Given the description of an element on the screen output the (x, y) to click on. 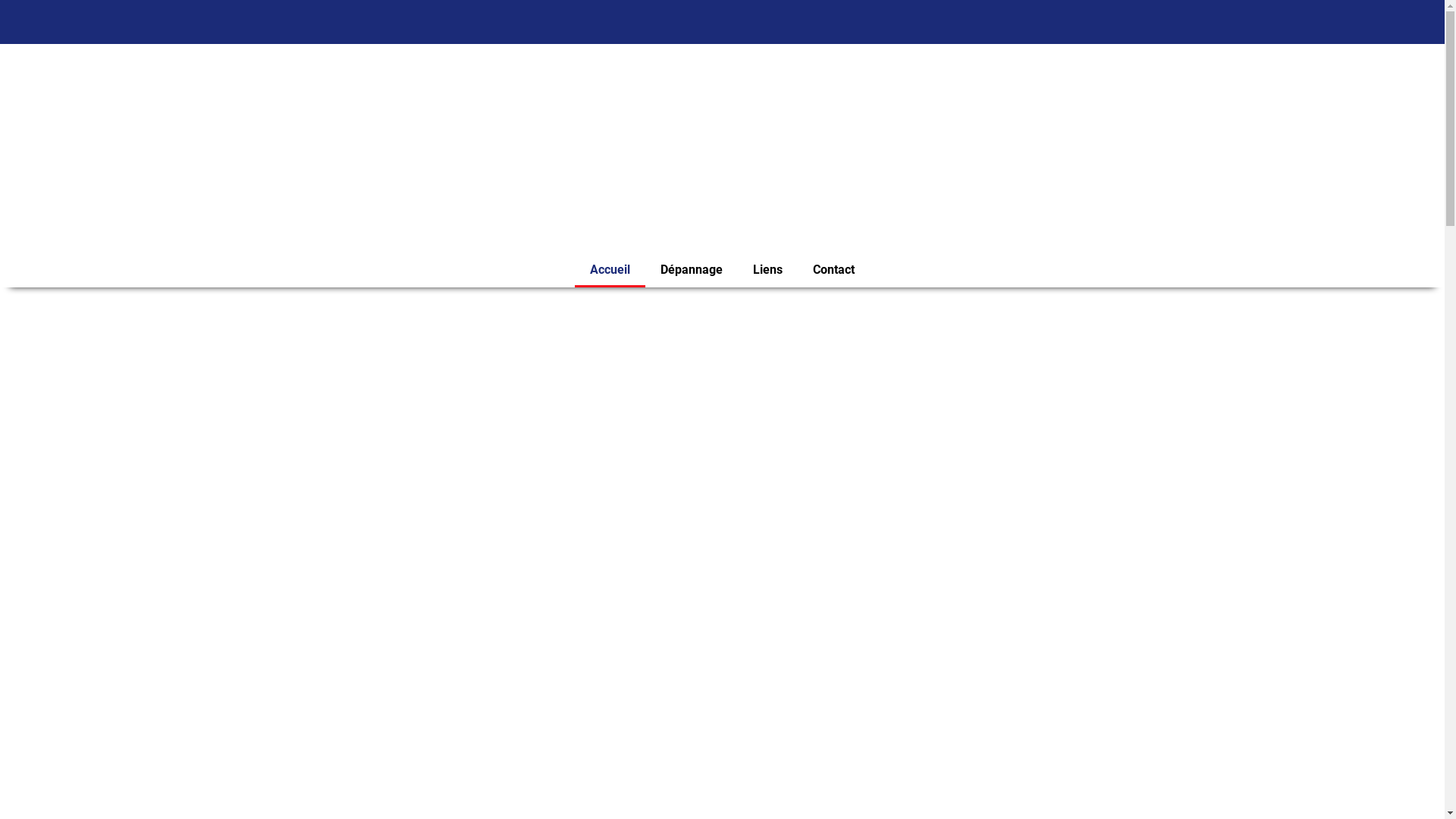
Liens Element type: text (767, 269)
Accueil Element type: text (609, 269)
Contact Element type: text (833, 269)
